Given the description of an element on the screen output the (x, y) to click on. 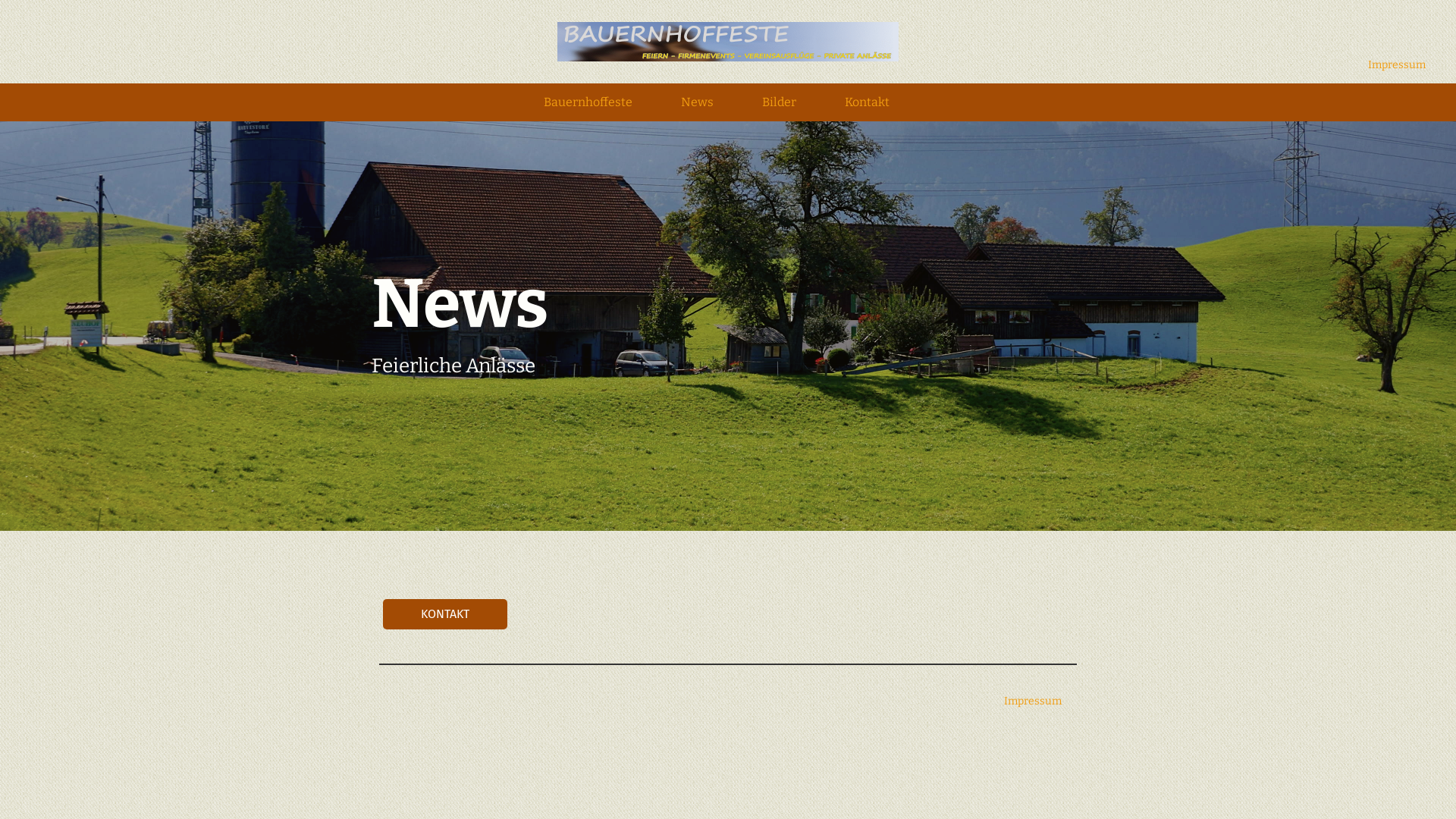
Bauernhoffeste Element type: text (587, 104)
Kontakt Element type: text (866, 104)
Impressum Element type: text (1032, 701)
Bilder Element type: text (779, 104)
Impressum Element type: text (1396, 65)
KONTAKT Element type: text (444, 614)
News Element type: text (696, 104)
